Given the description of an element on the screen output the (x, y) to click on. 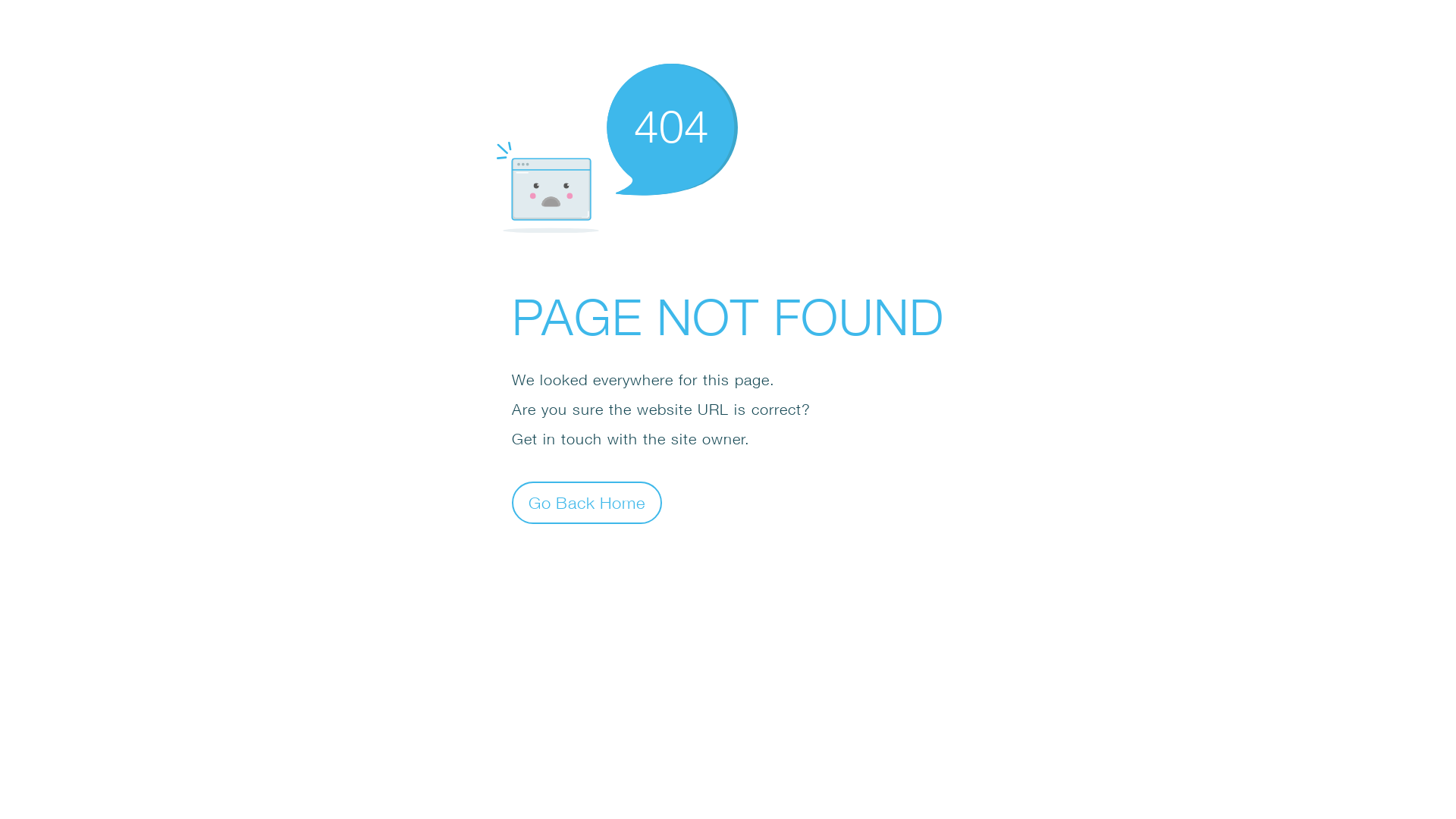
Go Back Home Element type: text (586, 502)
